Given the description of an element on the screen output the (x, y) to click on. 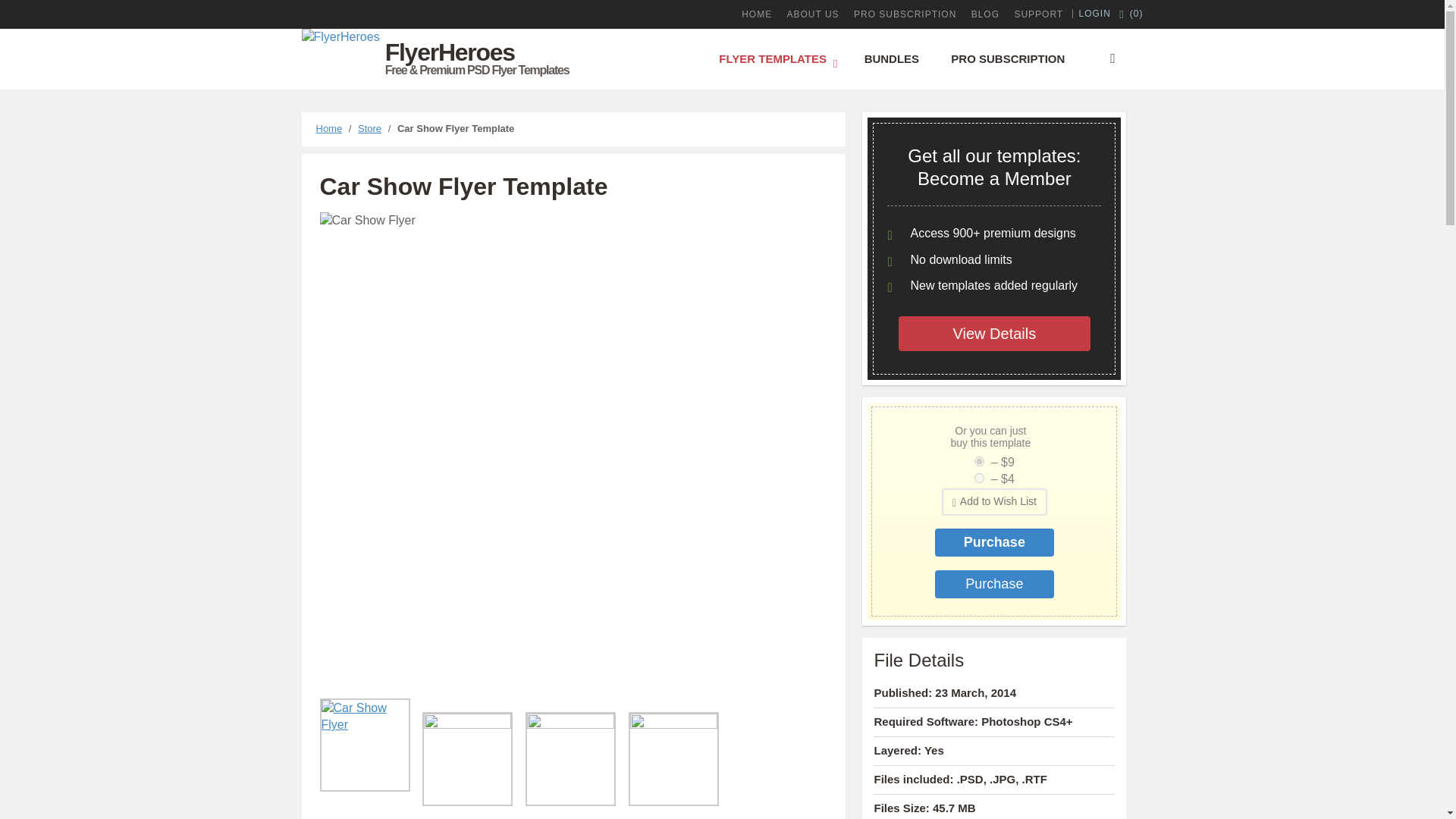
SUPPORT (1037, 13)
1 (979, 461)
BLOG (985, 13)
FLYER TEMPLATES (775, 58)
LOGIN (1094, 13)
Purchase (994, 584)
HOME (756, 13)
2 (979, 478)
ABOUT US (812, 13)
PRO SUBSCRIPTION (904, 13)
